Given the description of an element on the screen output the (x, y) to click on. 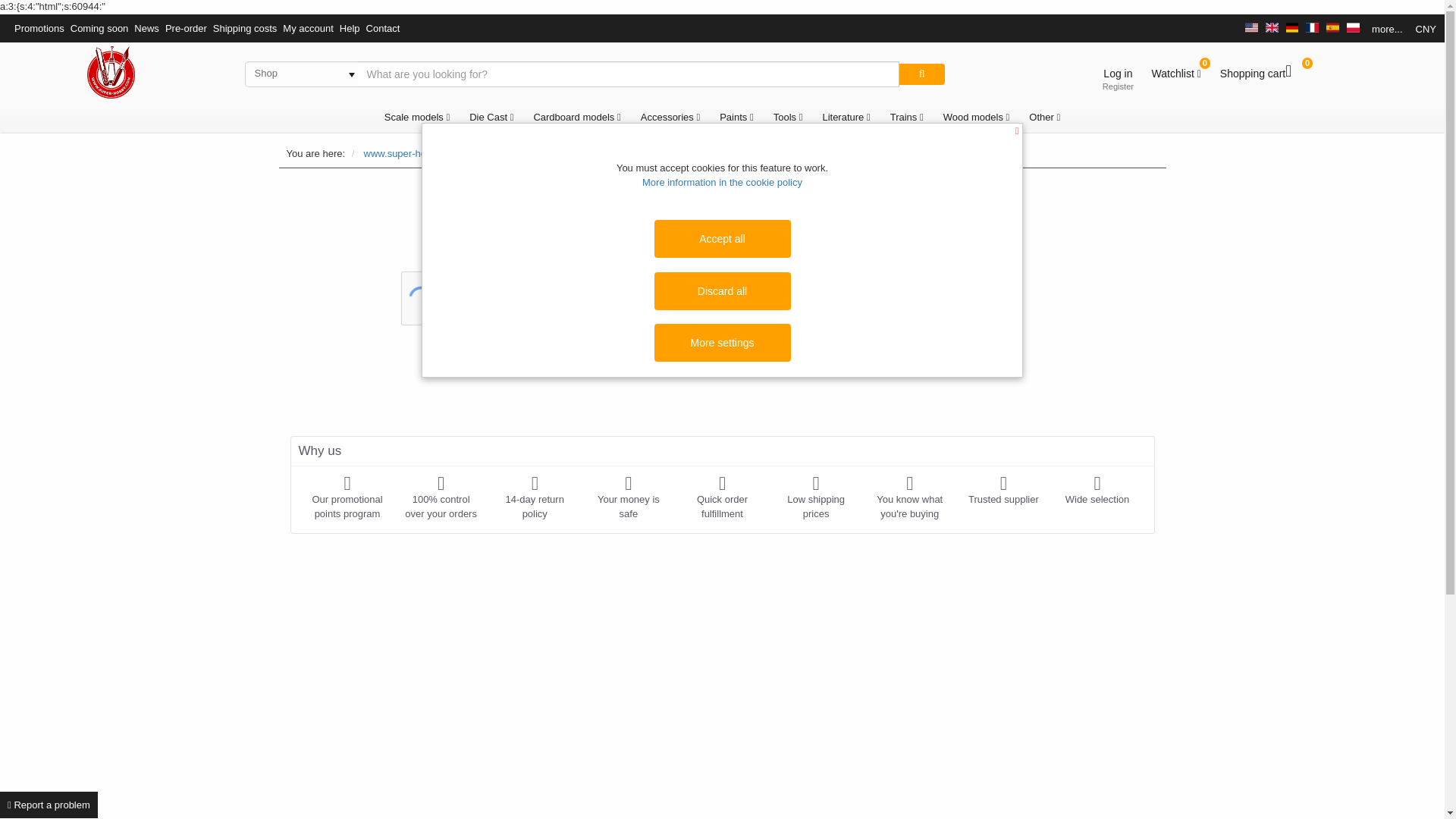
Super-Hobby.com - internet modelling shop (111, 71)
Secure payment through PayU, PayPal, or C.O.D. (628, 497)
We've been around since 2014 - read more about our company (1003, 490)
Super-Hobby.com - internet modelling shop (111, 71)
Report a problem (48, 804)
